Given the description of an element on the screen output the (x, y) to click on. 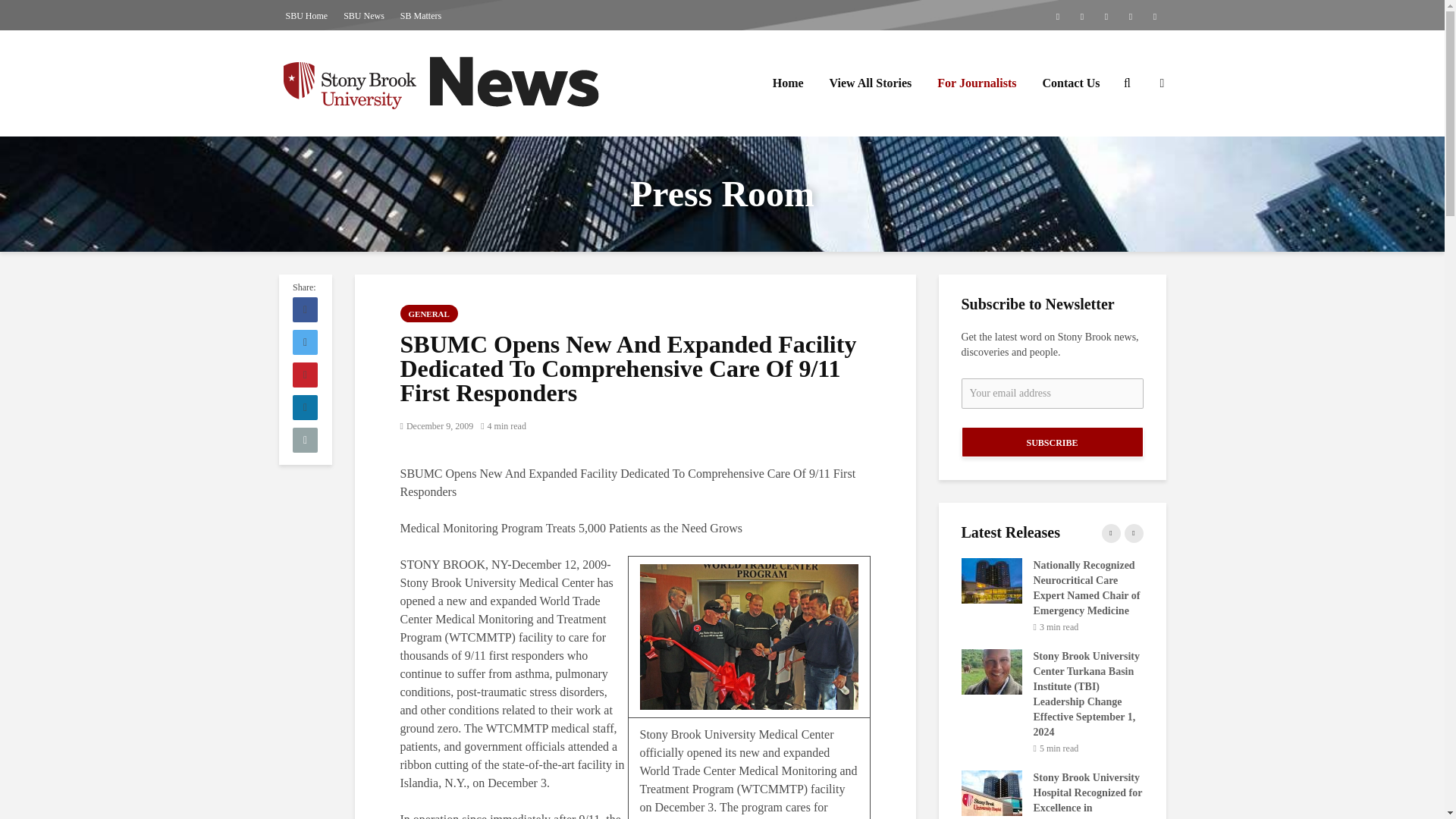
For Journalists (976, 82)
Contact Us (1071, 82)
View All Stories (870, 82)
SBU News (363, 15)
SB Matters (420, 15)
Home (788, 82)
Subscribe (1051, 441)
